Given the description of an element on the screen output the (x, y) to click on. 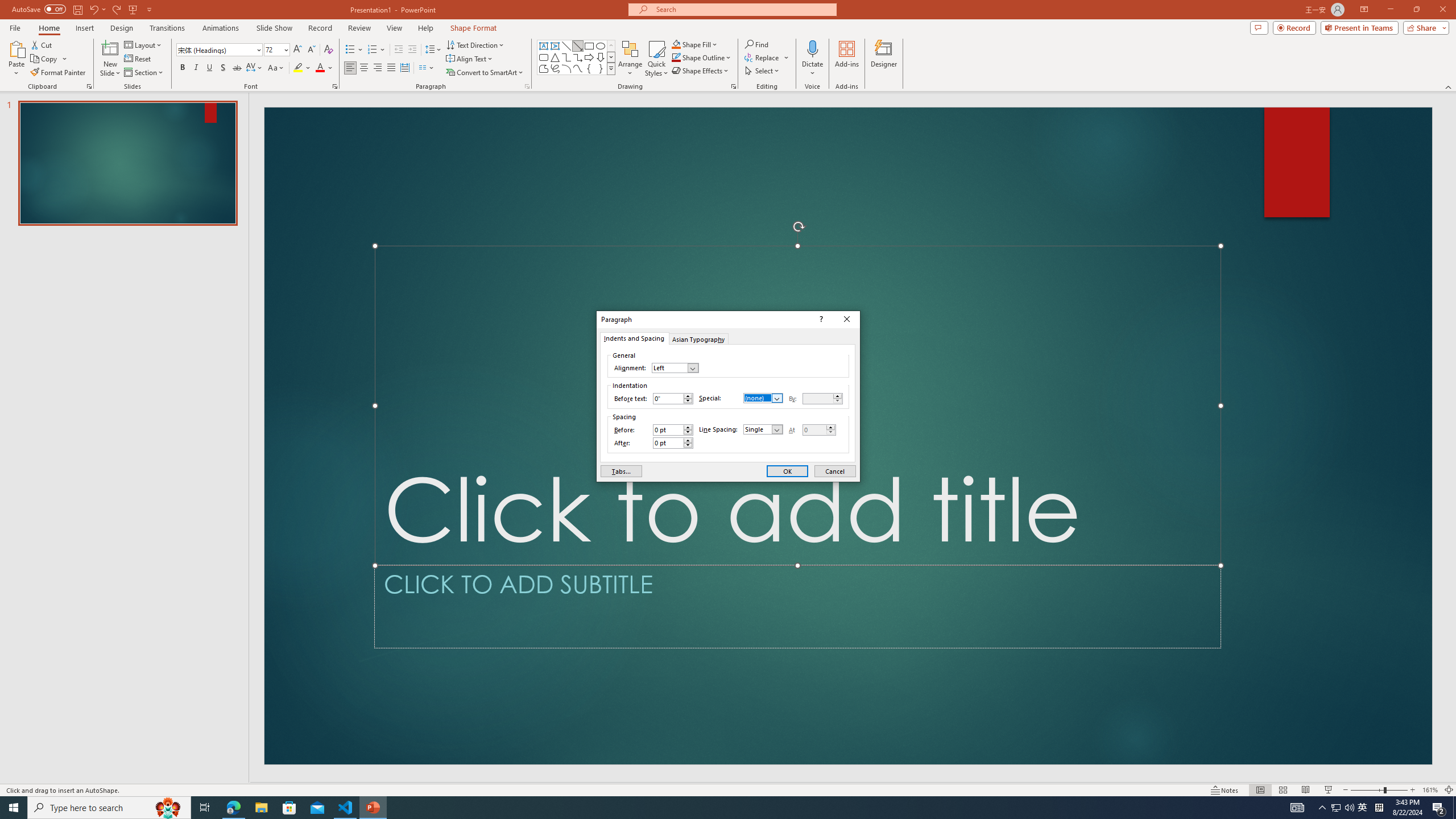
After (672, 442)
Show desktop (1454, 807)
Layout (143, 44)
Columns (426, 67)
PowerPoint - 1 running window (373, 807)
Select (762, 69)
Right Brace (600, 68)
Increase Font Size (297, 49)
